Given the description of an element on the screen output the (x, y) to click on. 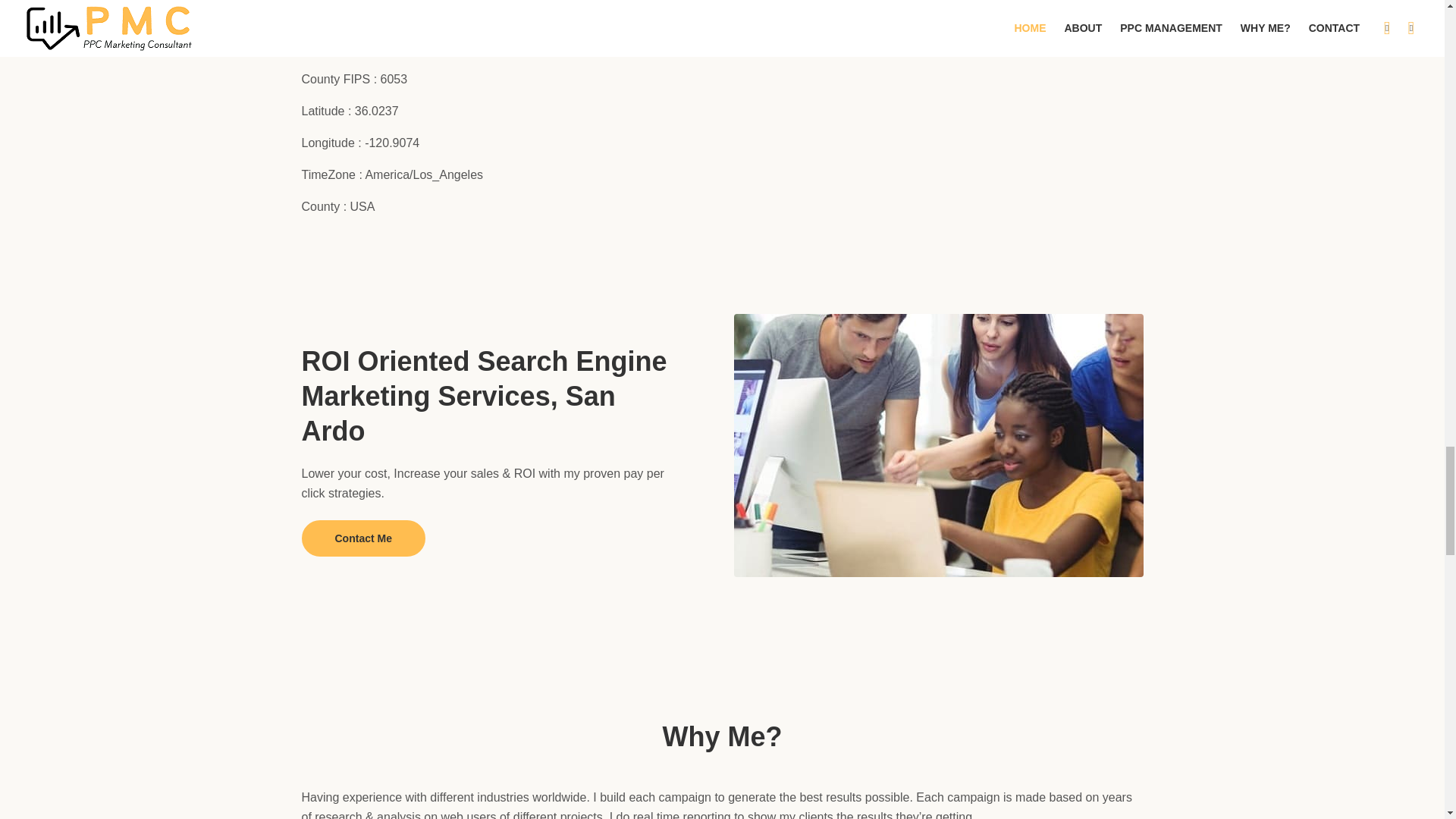
Contact Me (363, 538)
Contact Me (363, 538)
